Given the description of an element on the screen output the (x, y) to click on. 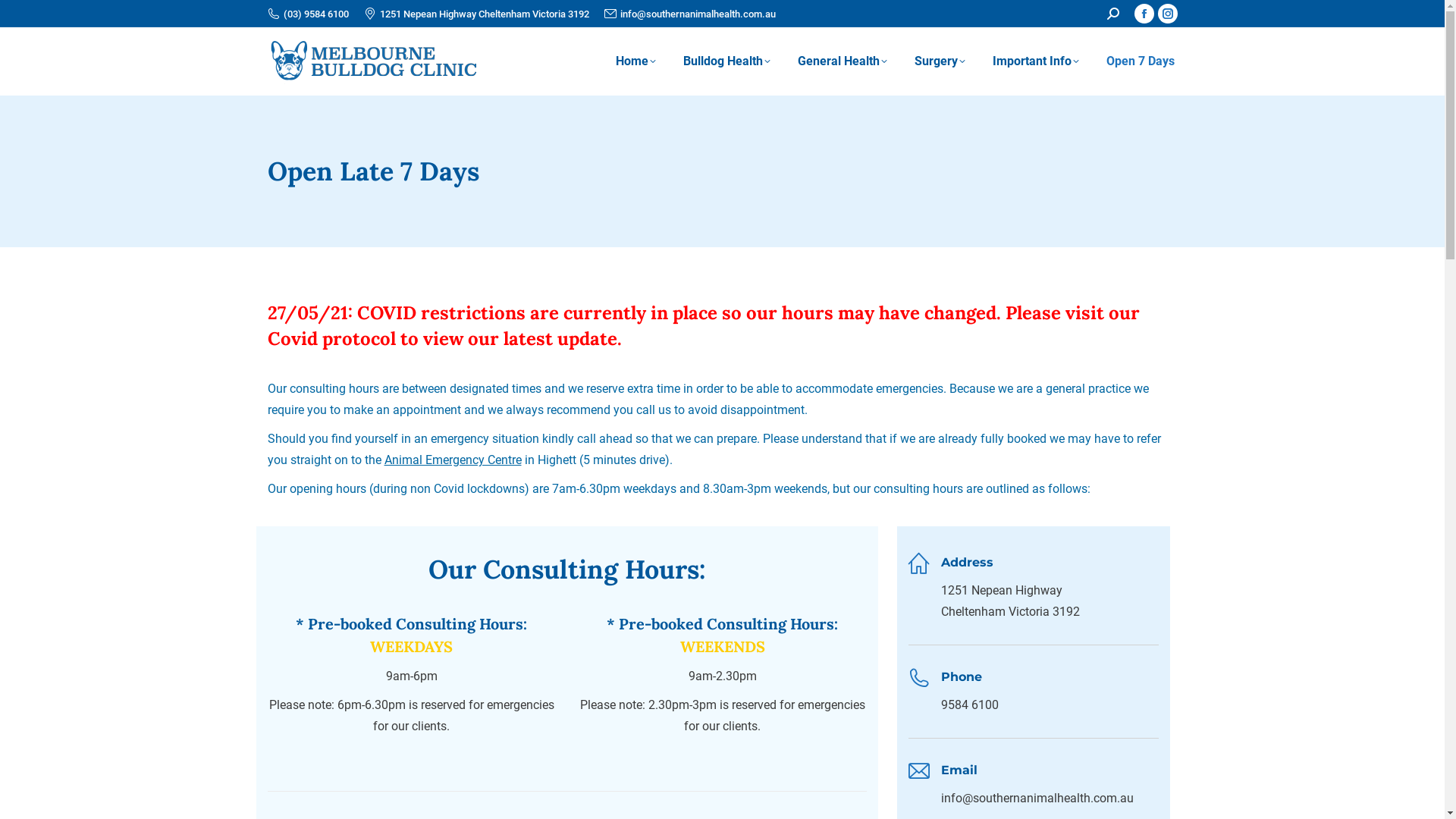
Open 7 Days Element type: text (1139, 60)
Surgery Element type: text (939, 60)
Important Info Element type: text (1034, 60)
Instagram page opens in new window Element type: text (1166, 13)
Home Element type: text (635, 60)
Covid protocol Element type: text (330, 338)
Facebook page opens in new window Element type: text (1144, 13)
Animal Emergency Centre Element type: text (451, 459)
General Health Element type: text (842, 60)
Go! Element type: text (23, 16)
Bulldog Health Element type: text (725, 60)
